Given the description of an element on the screen output the (x, y) to click on. 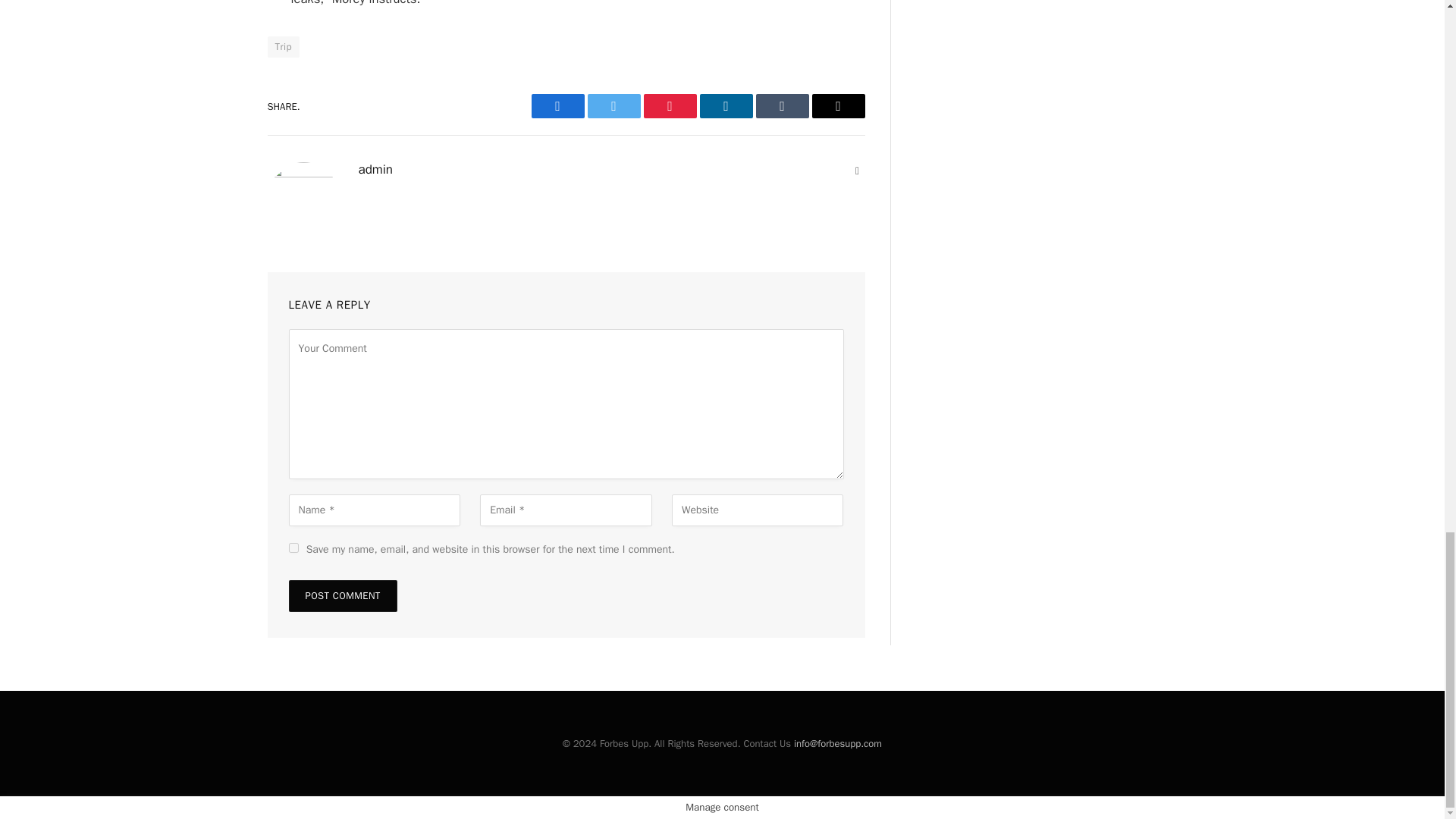
yes (293, 547)
Post Comment (342, 595)
